Given the description of an element on the screen output the (x, y) to click on. 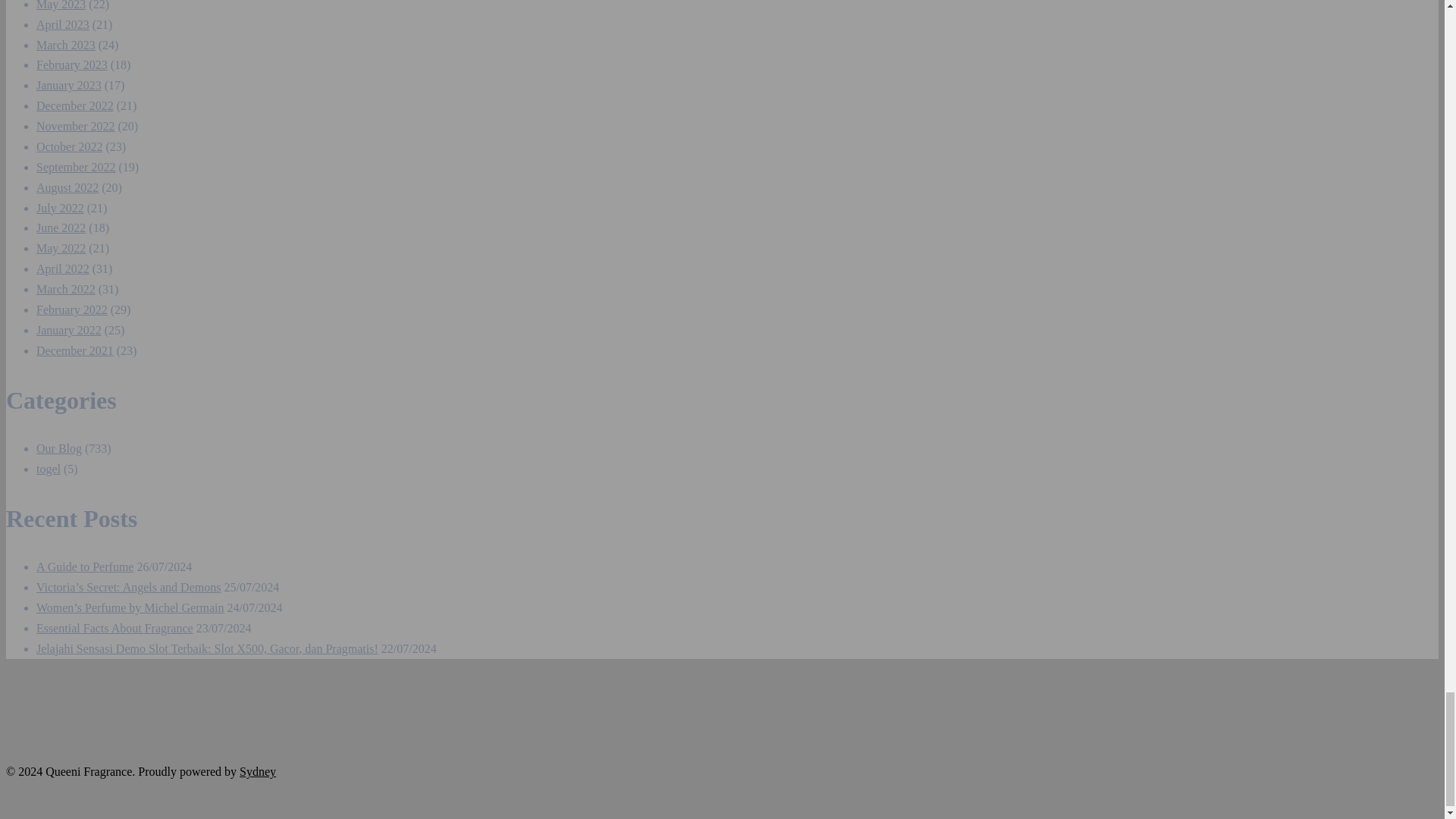
May 2023 (60, 5)
February 2023 (71, 64)
April 2023 (62, 24)
March 2023 (66, 44)
